Given the description of an element on the screen output the (x, y) to click on. 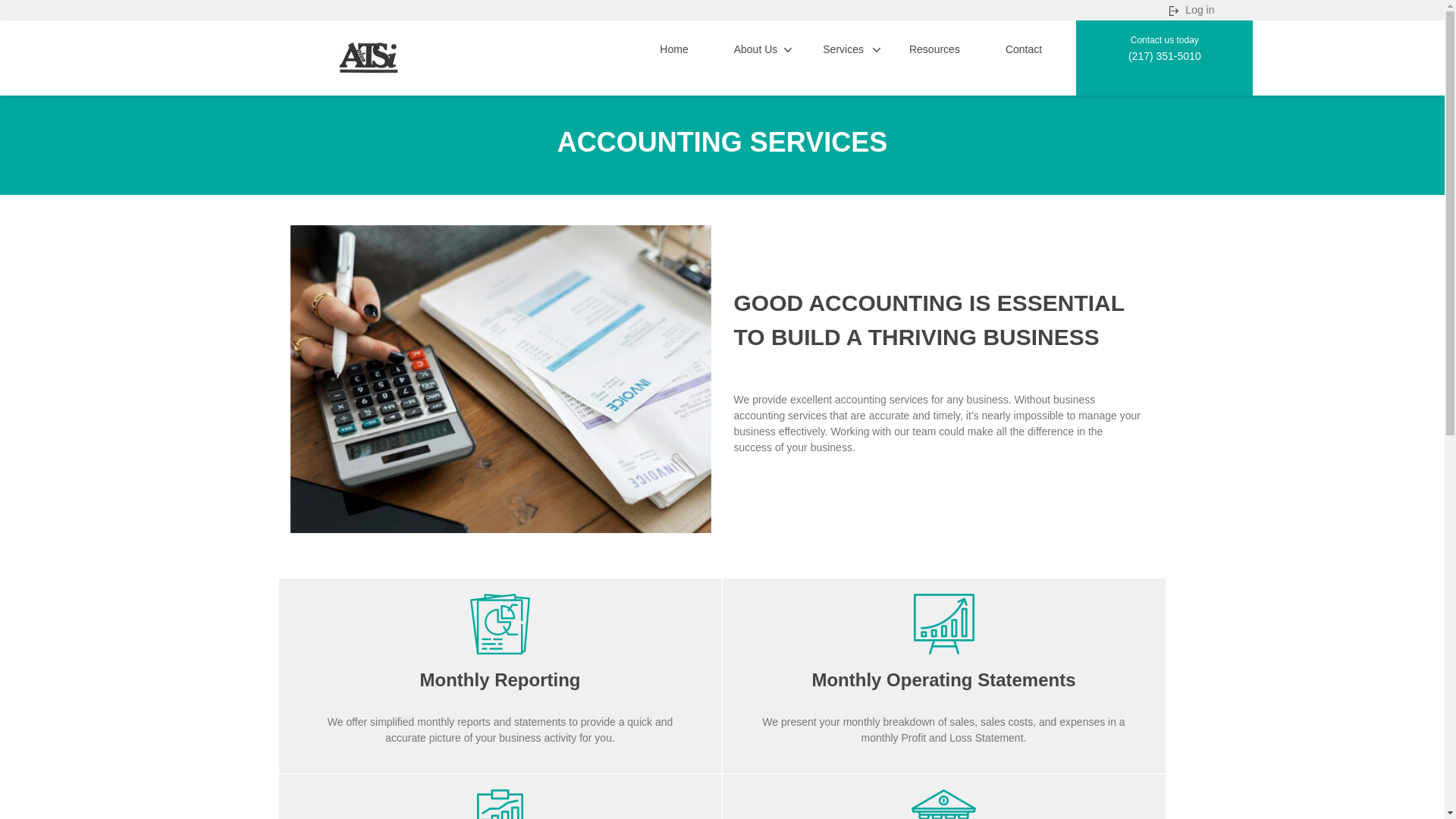
Log in (1199, 10)
Services (842, 48)
Resources (934, 48)
Home (673, 48)
Contact (1023, 48)
About Us (755, 48)
